Given the description of an element on the screen output the (x, y) to click on. 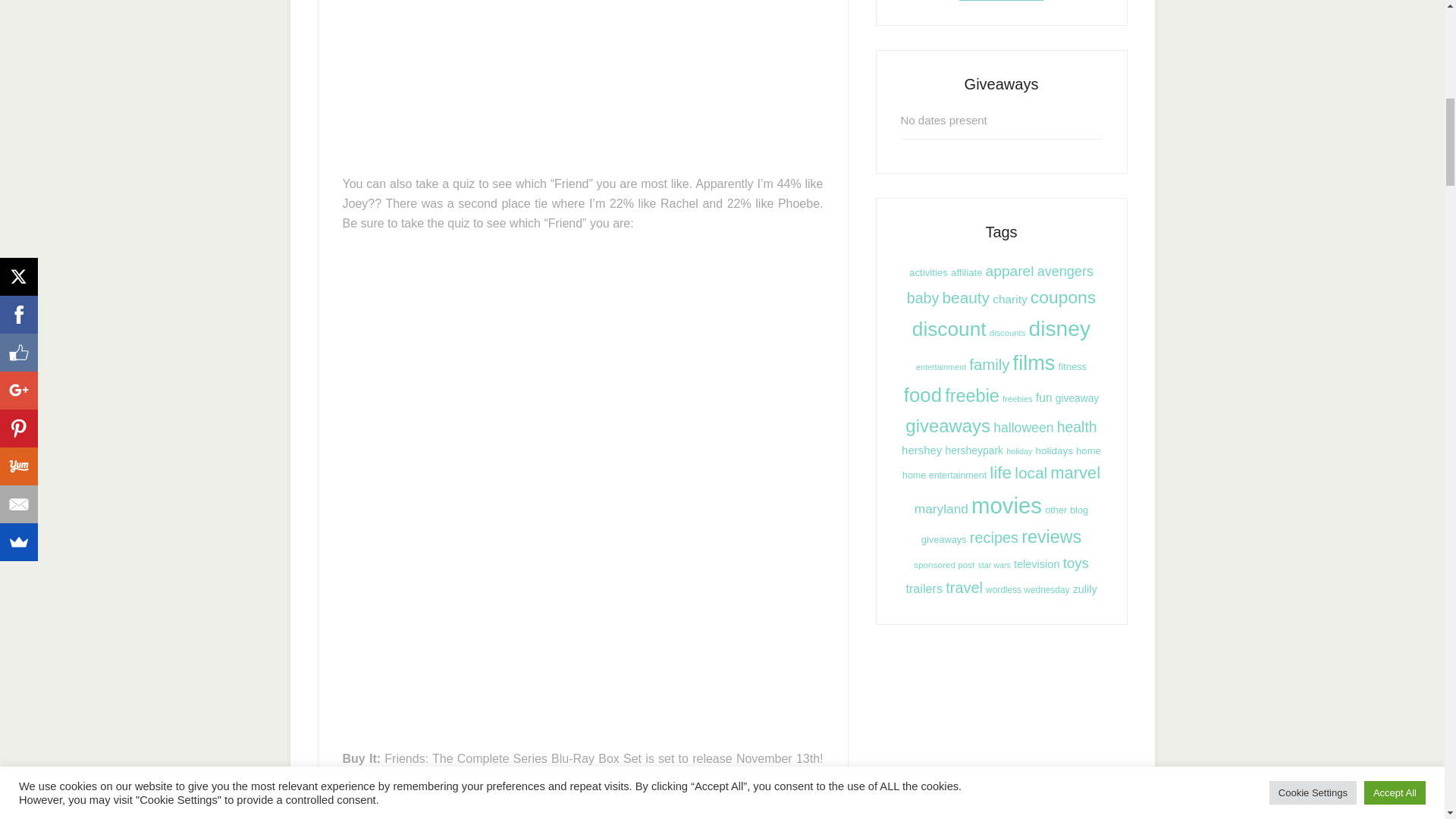
Amazon (667, 778)
